Given the description of an element on the screen output the (x, y) to click on. 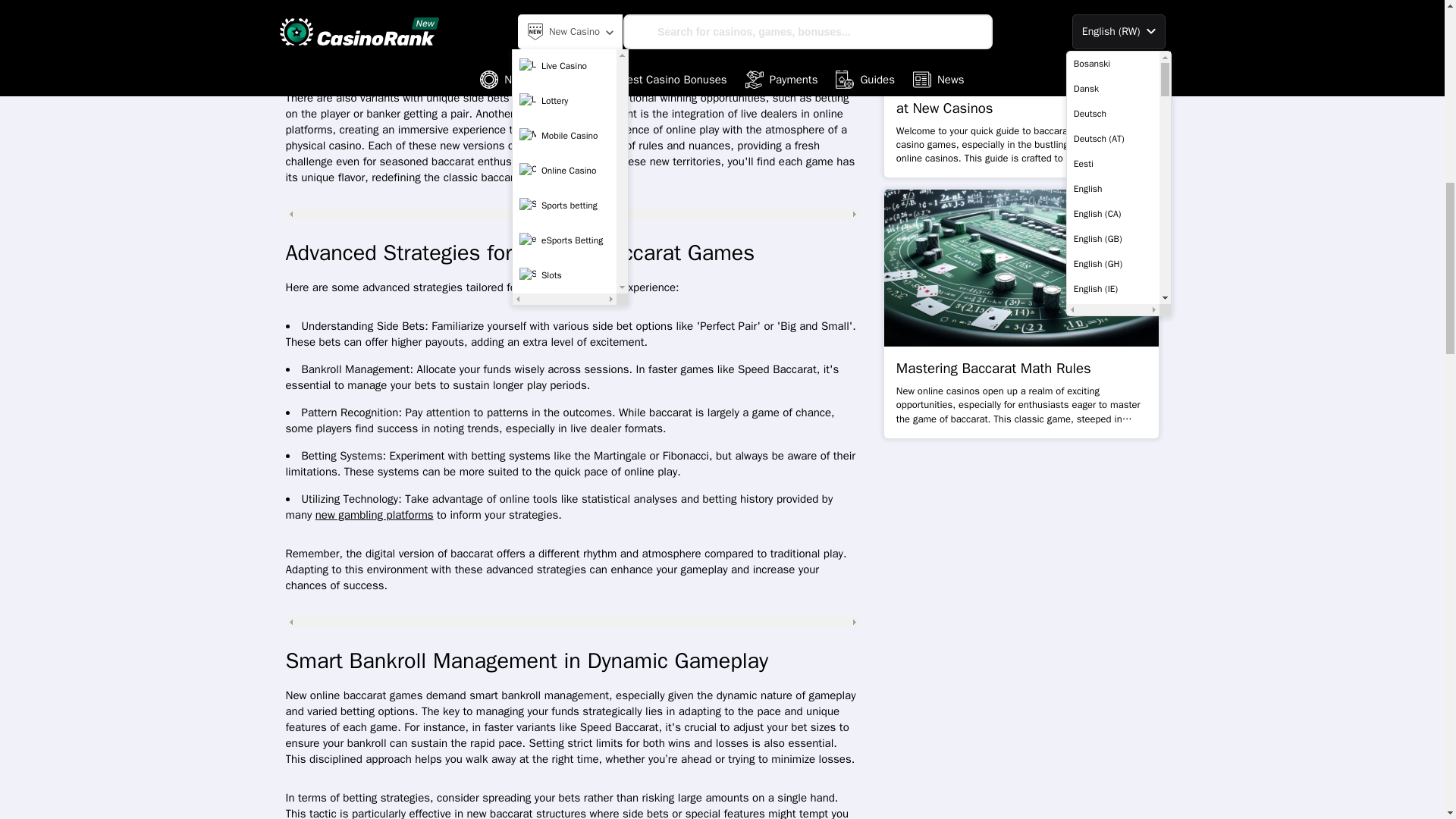
Hrvatski (1113, 4)
